Given the description of an element on the screen output the (x, y) to click on. 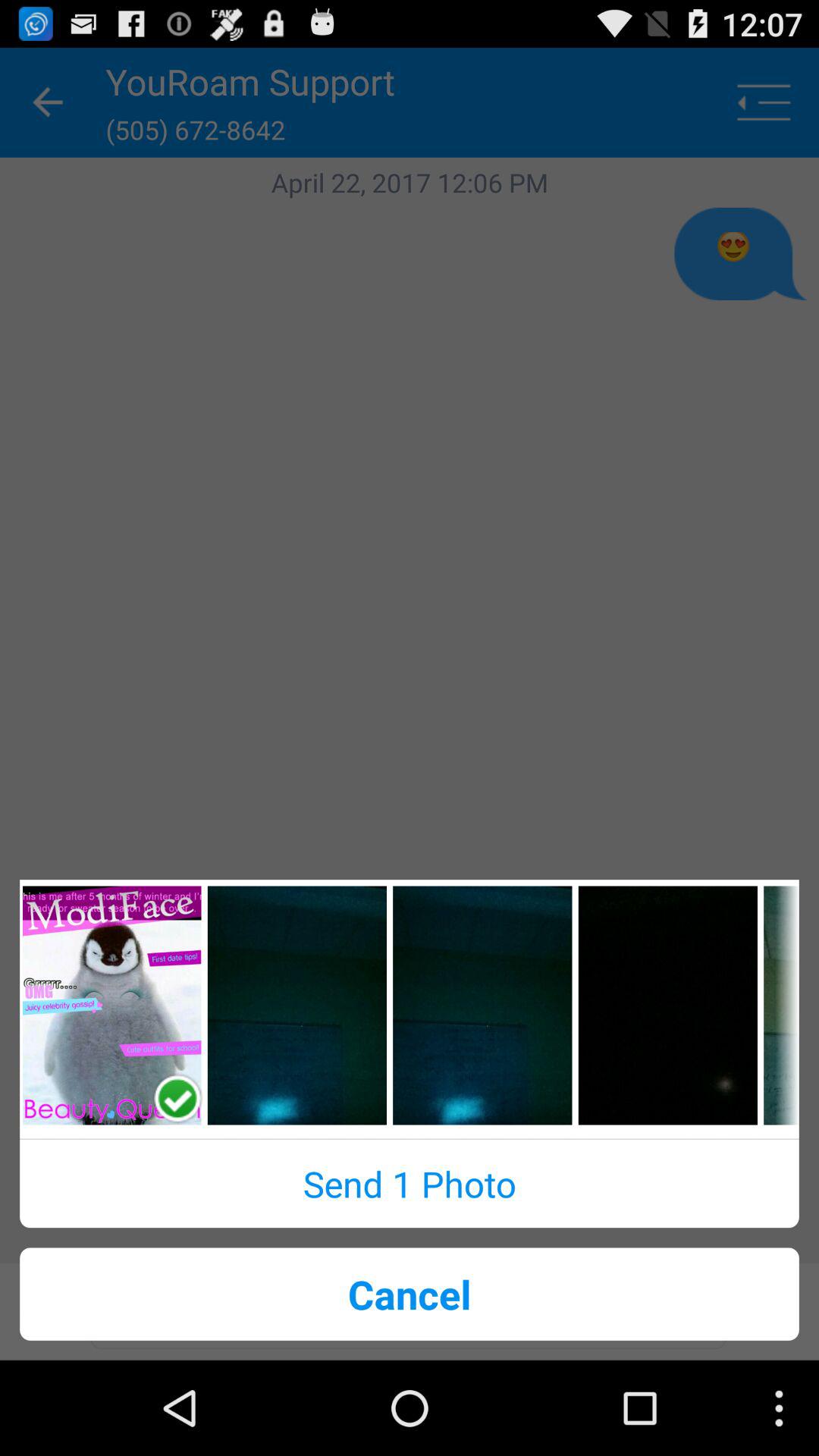
select photo (111, 1005)
